Given the description of an element on the screen output the (x, y) to click on. 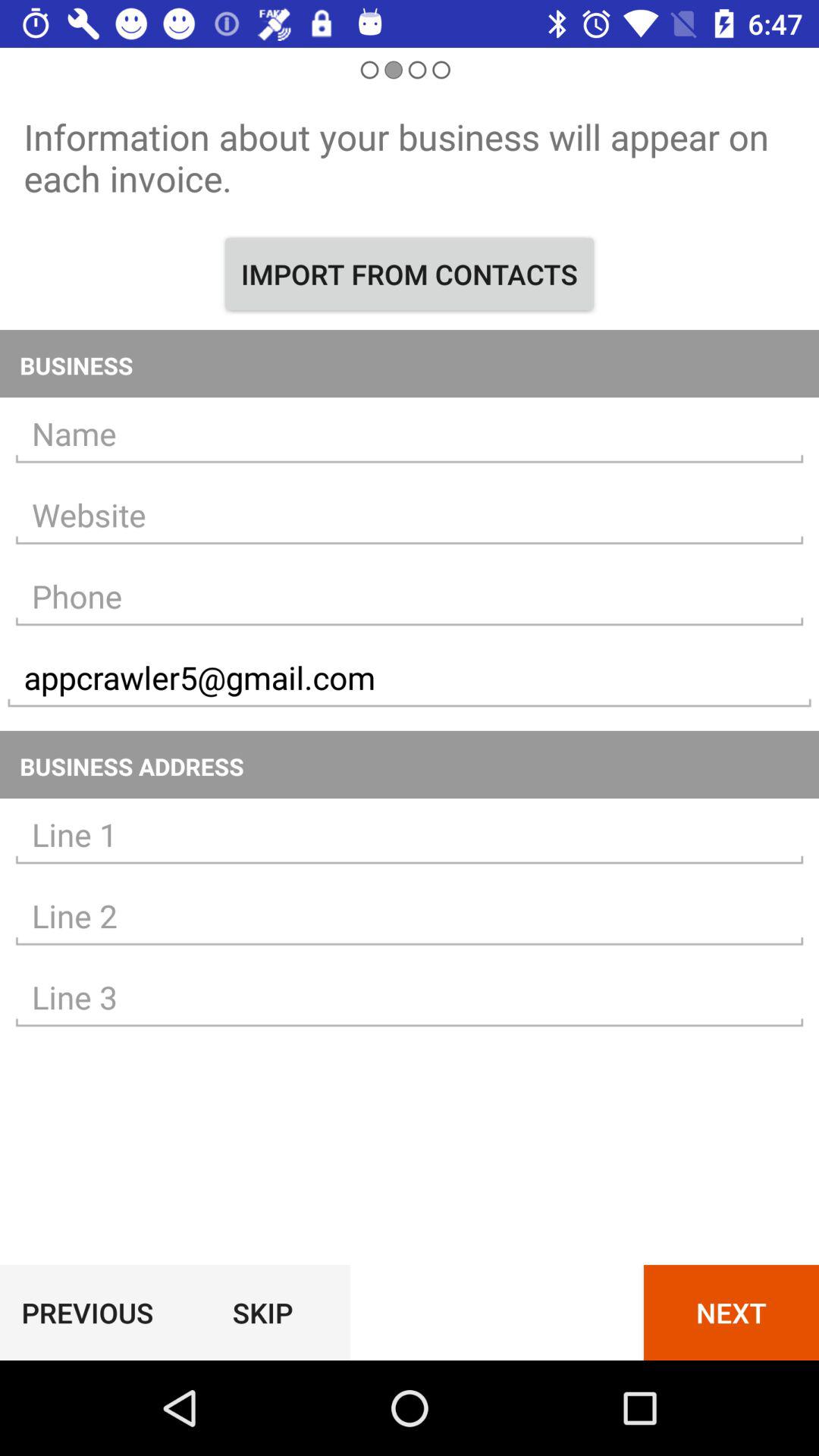
click icon next to the skip item (731, 1312)
